Given the description of an element on the screen output the (x, y) to click on. 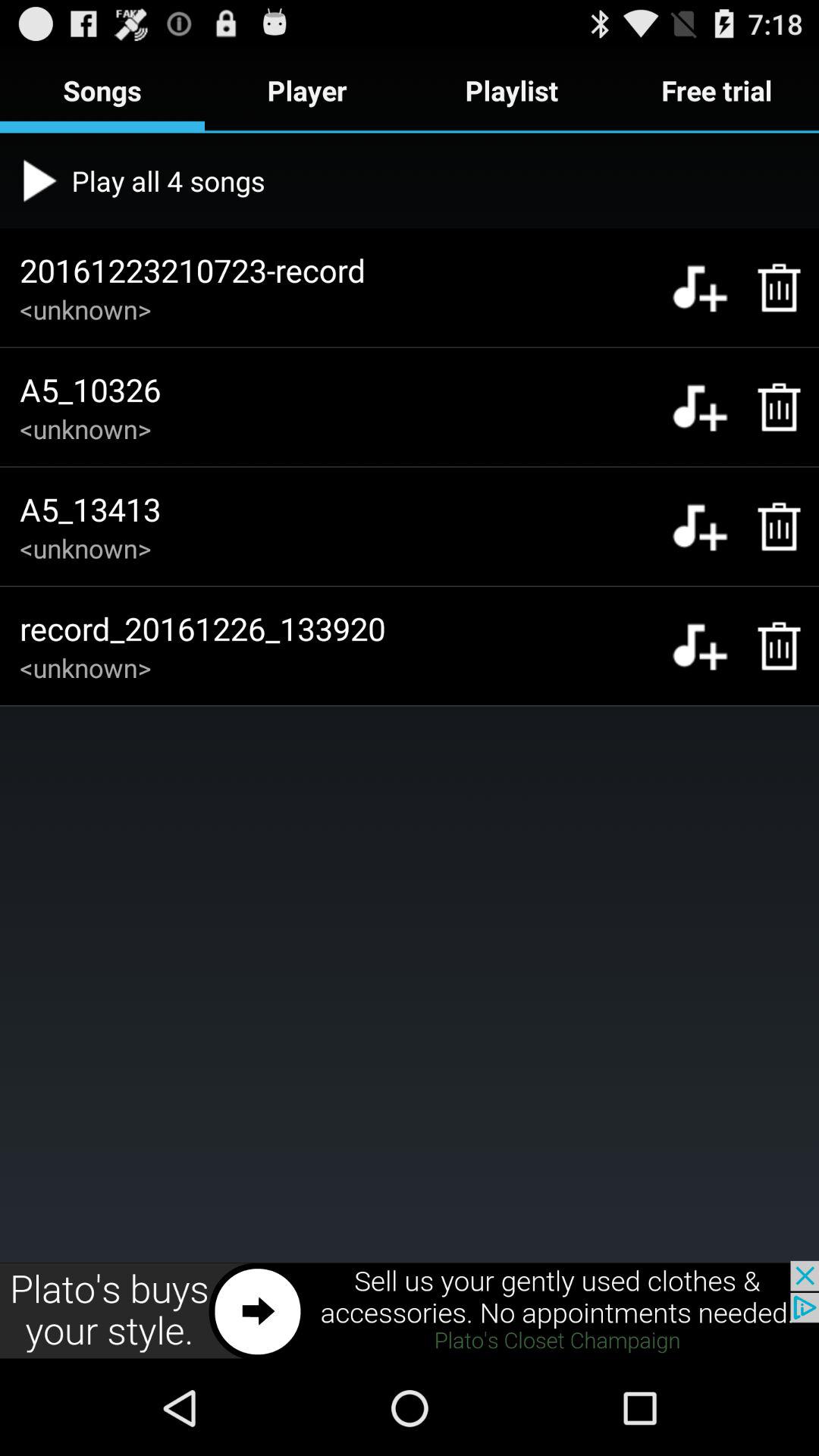
delete song (771, 287)
